Given the description of an element on the screen output the (x, y) to click on. 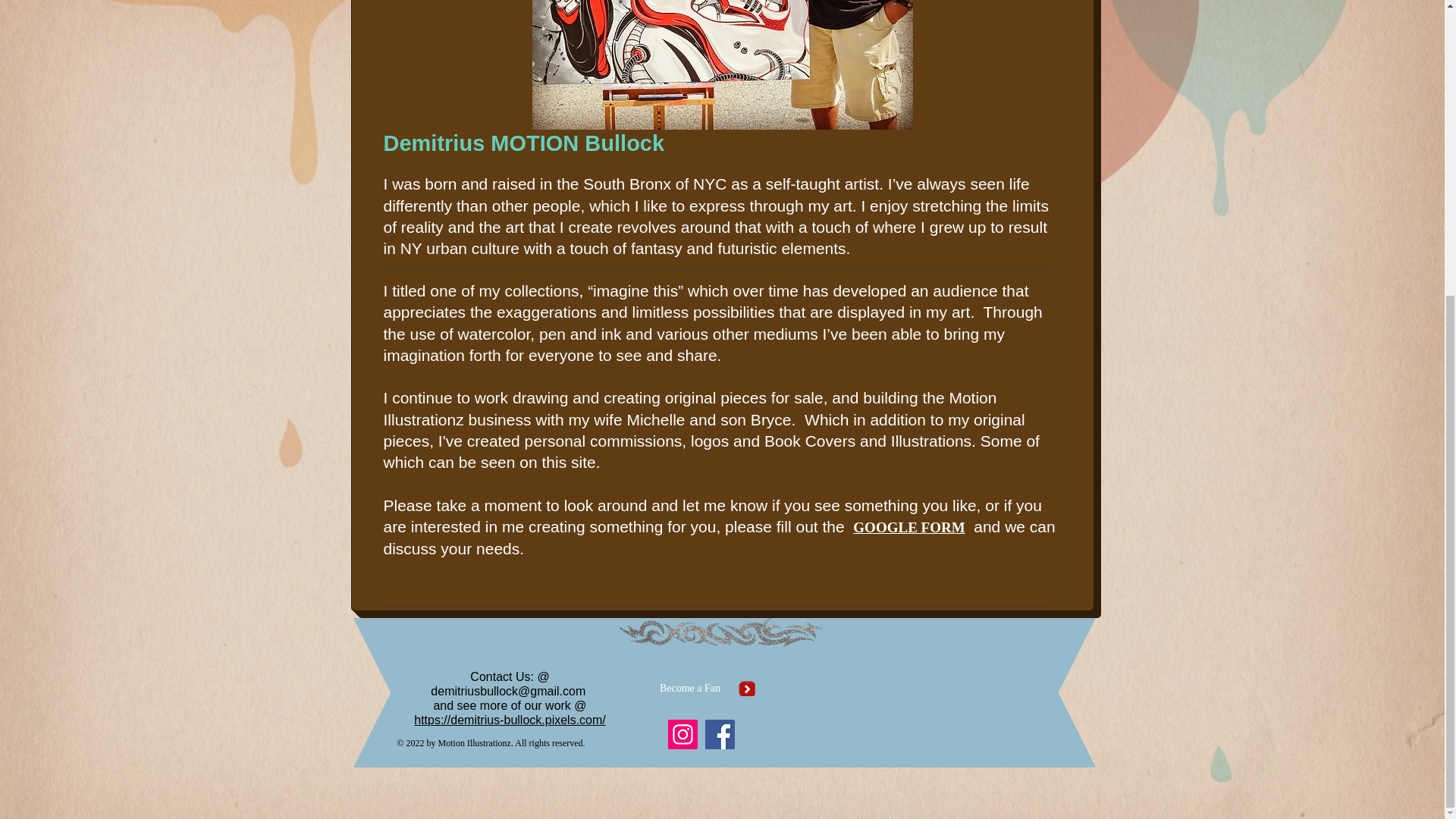
bio-picture2.jpg (722, 64)
Become a Fan (690, 688)
GOOGLE FORM (908, 527)
